Given the description of an element on the screen output the (x, y) to click on. 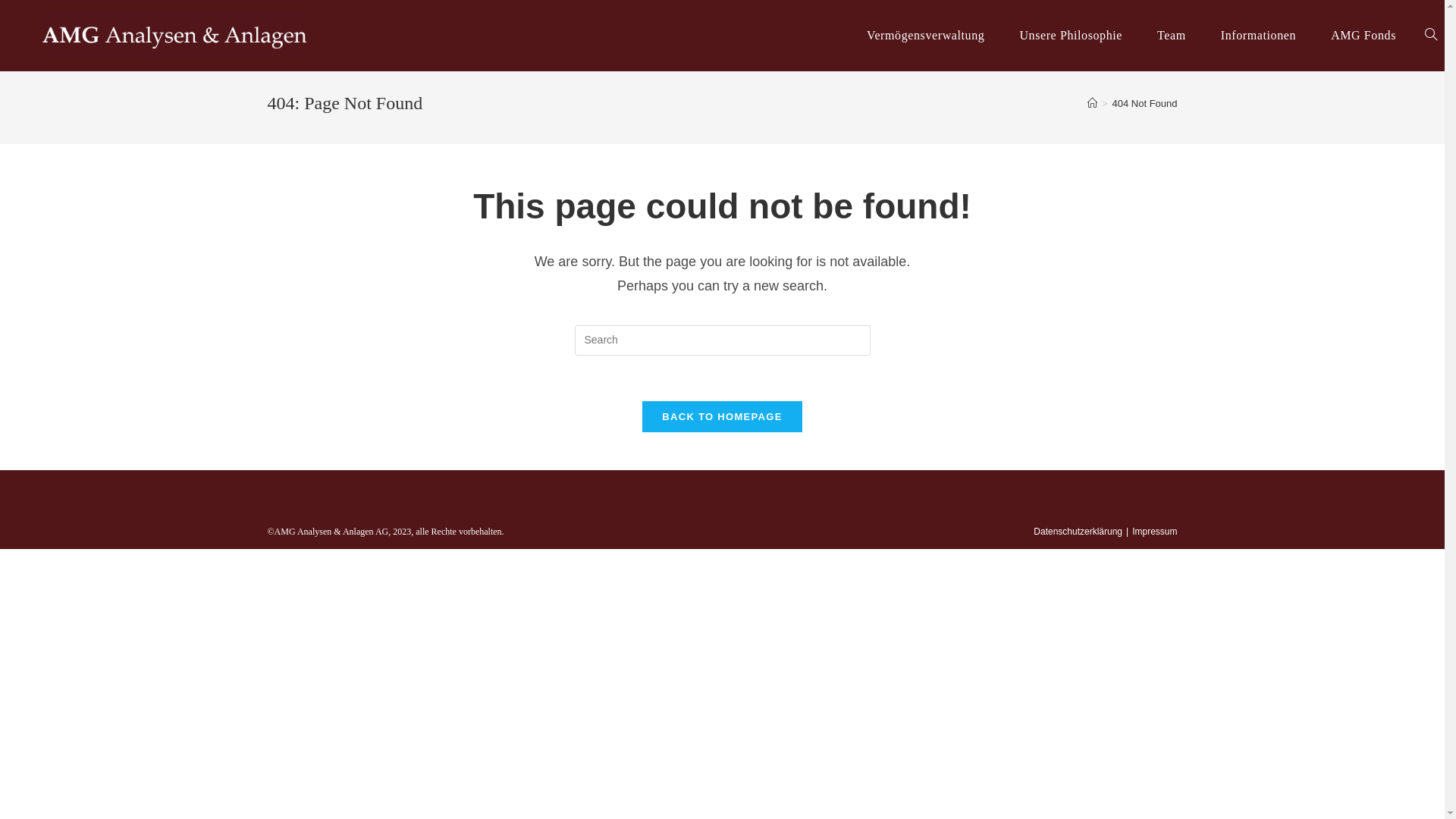
Informationen Element type: text (1258, 35)
404 Not Found Element type: text (1143, 103)
Team Element type: text (1171, 35)
Toggle website search Element type: text (1430, 35)
BACK TO HOMEPAGE Element type: text (721, 416)
Impressum Element type: text (1154, 531)
Unsere Philosophie Element type: text (1070, 35)
AMG Fonds Element type: text (1363, 35)
